Given the description of an element on the screen output the (x, y) to click on. 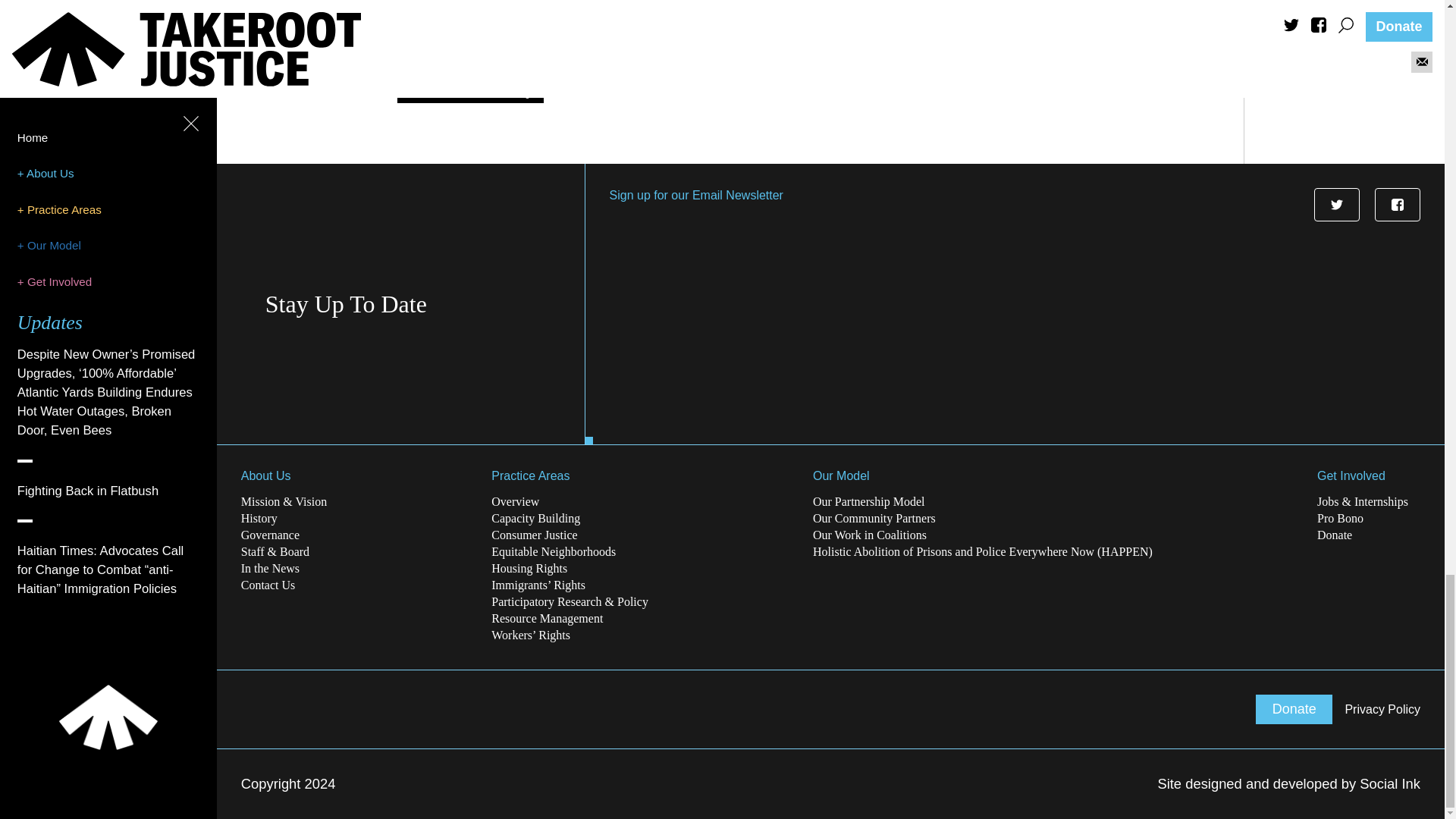
Permanent Link to Paula Z. Segal (464, 42)
Permanent Link to Paula Z. Segal (305, 65)
See TakeRoot Justice on Twitter (1336, 204)
See TakeRoot Justice on Facebook (1397, 204)
